Given the description of an element on the screen output the (x, y) to click on. 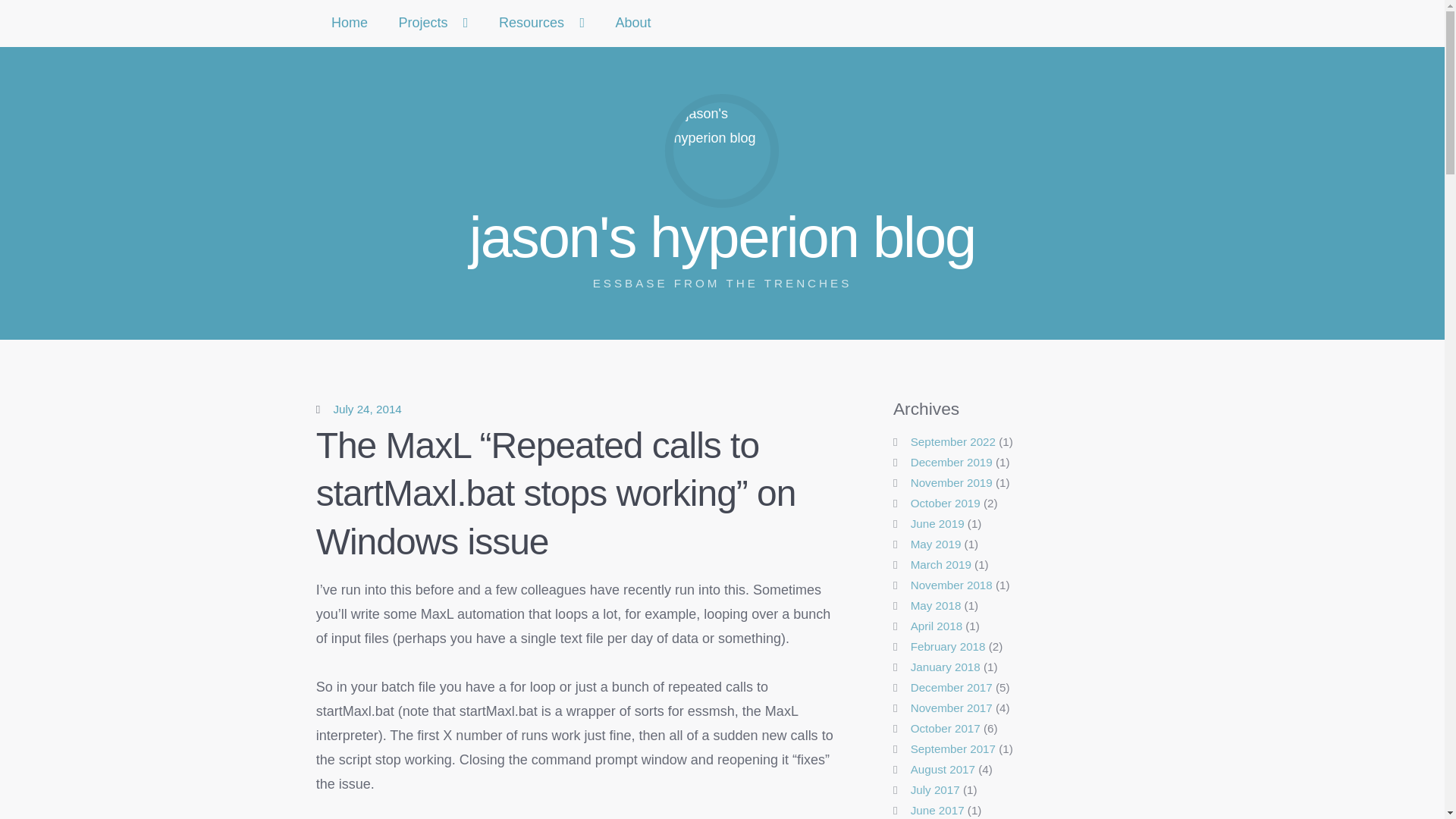
Resources (541, 23)
Home (349, 23)
July 24, 2014 (632, 23)
jason's hyperion blog (367, 408)
